Given the description of an element on the screen output the (x, y) to click on. 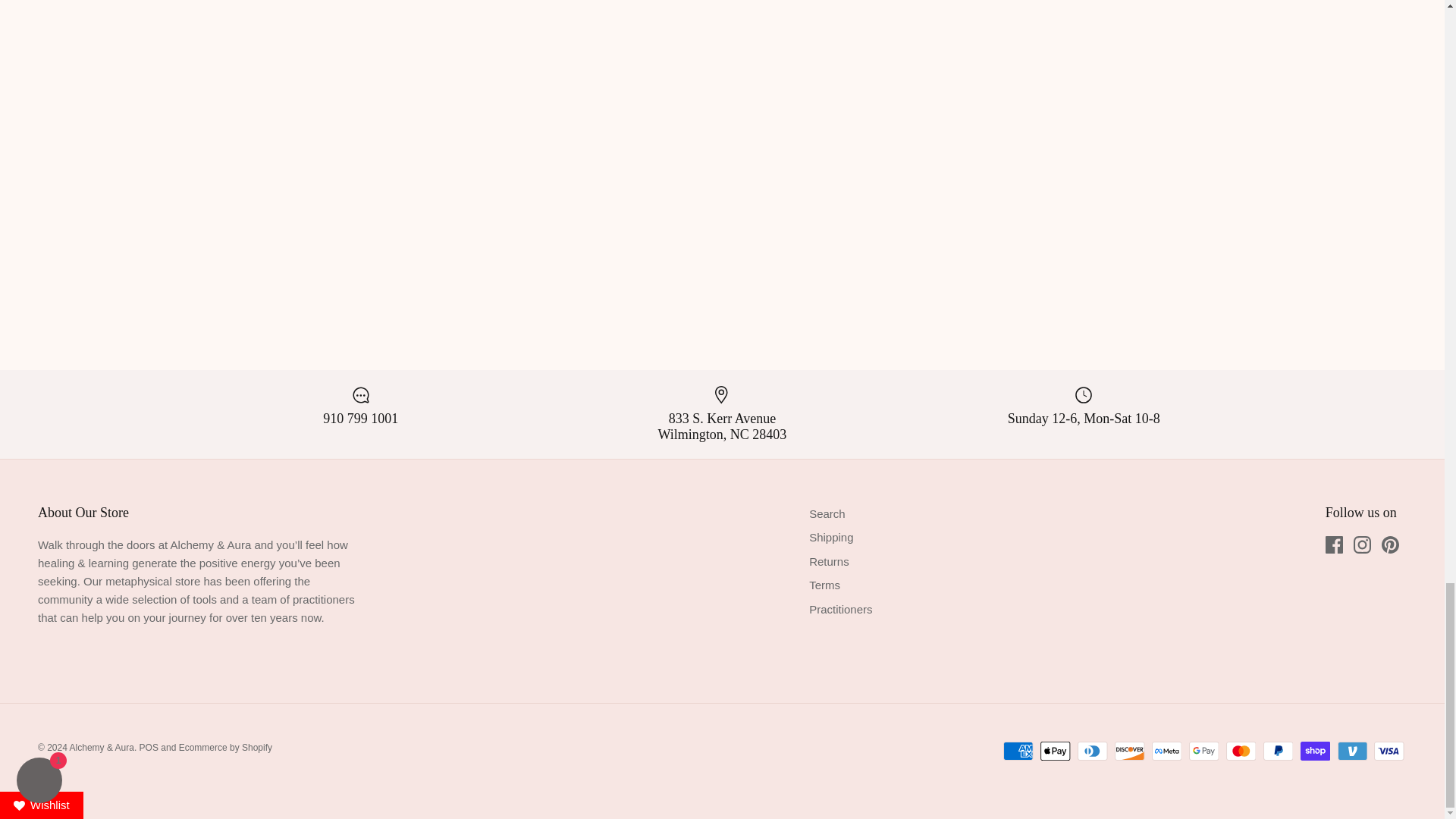
Pinterest (1390, 544)
Instagram (1362, 544)
American Express (1018, 751)
Facebook (1333, 544)
Apple Pay (1055, 751)
